Given the description of an element on the screen output the (x, y) to click on. 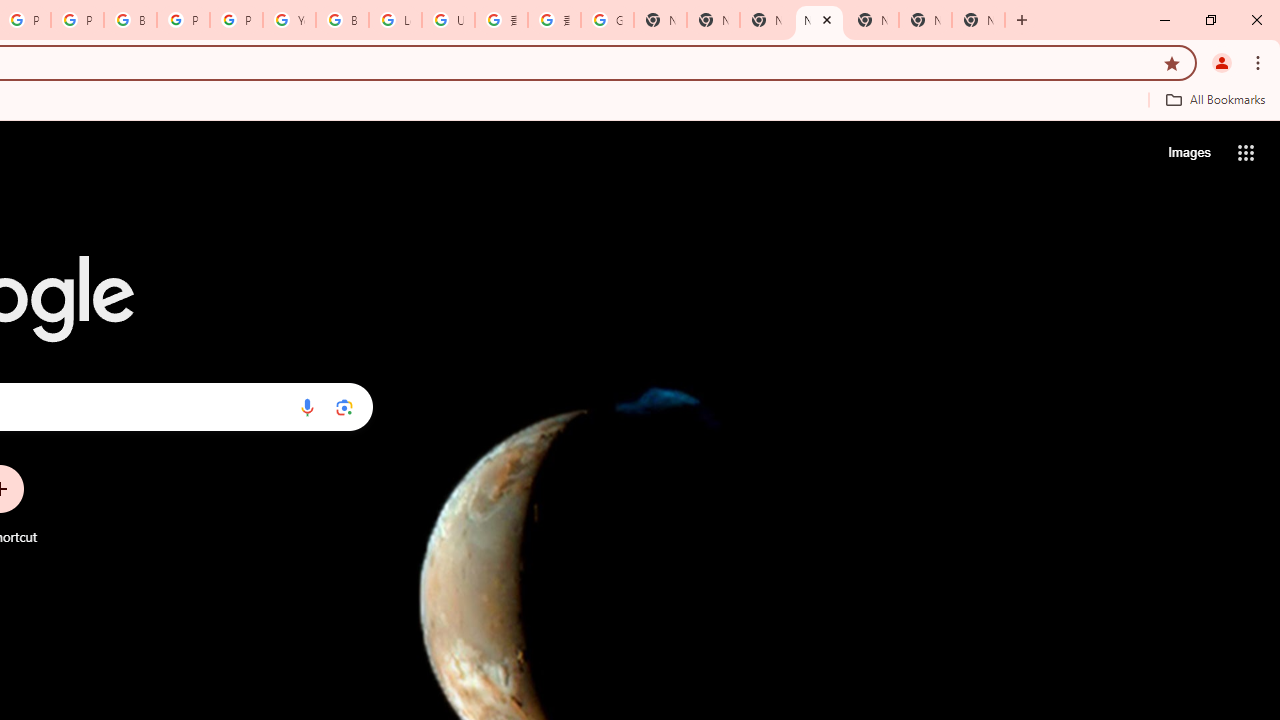
Privacy Help Center - Policies Help (77, 20)
